Given the description of an element on the screen output the (x, y) to click on. 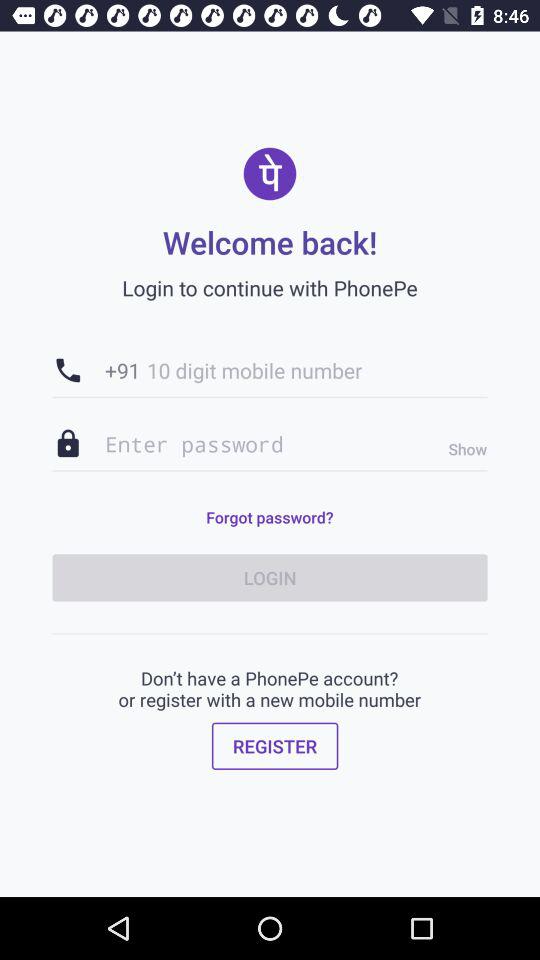
scroll until forgot password? (269, 517)
